Given the description of an element on the screen output the (x, y) to click on. 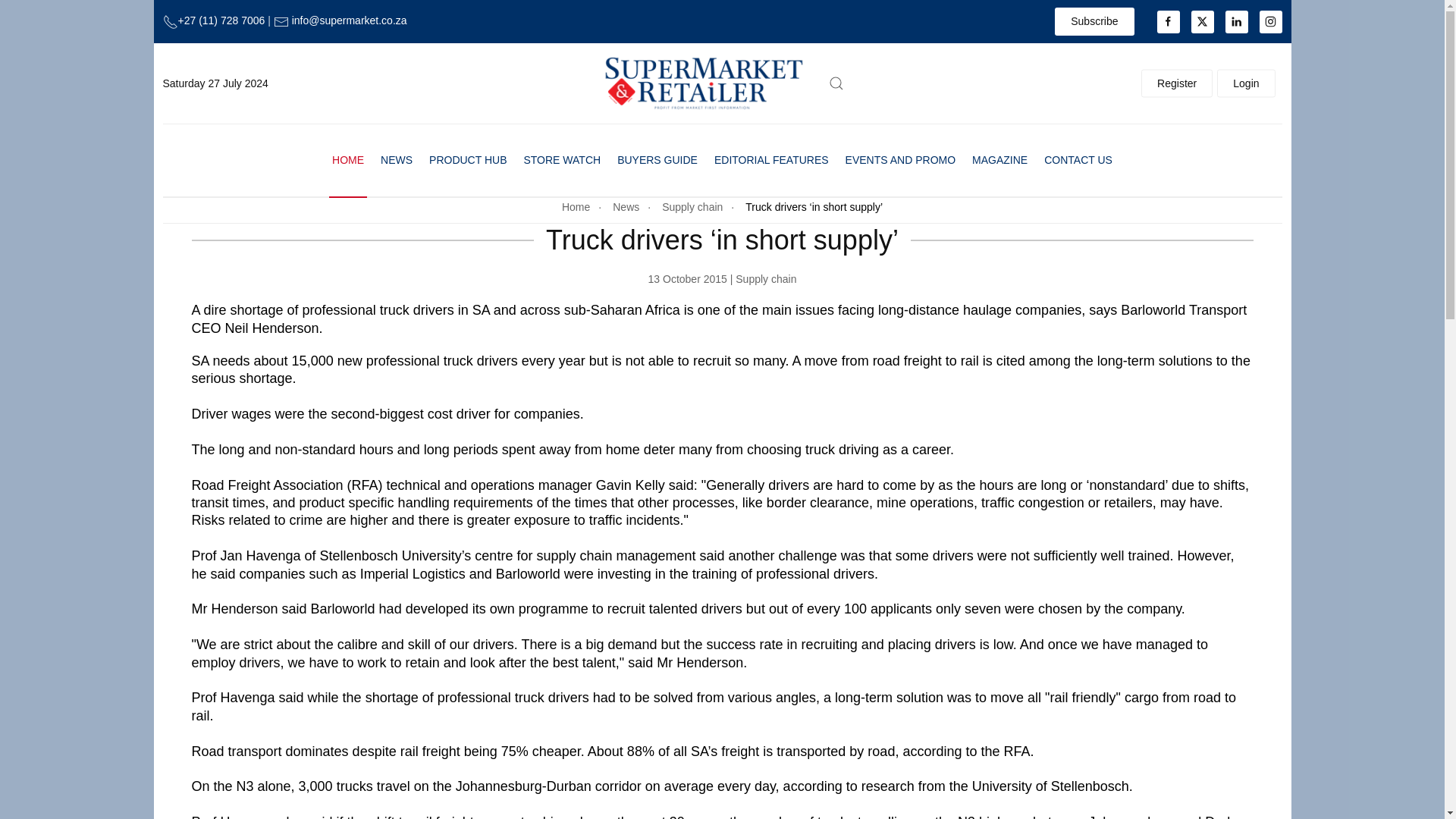
Register (1176, 83)
HOME (347, 160)
Login (1246, 83)
NEWS (395, 160)
Subscribe (1094, 21)
